Given the description of an element on the screen output the (x, y) to click on. 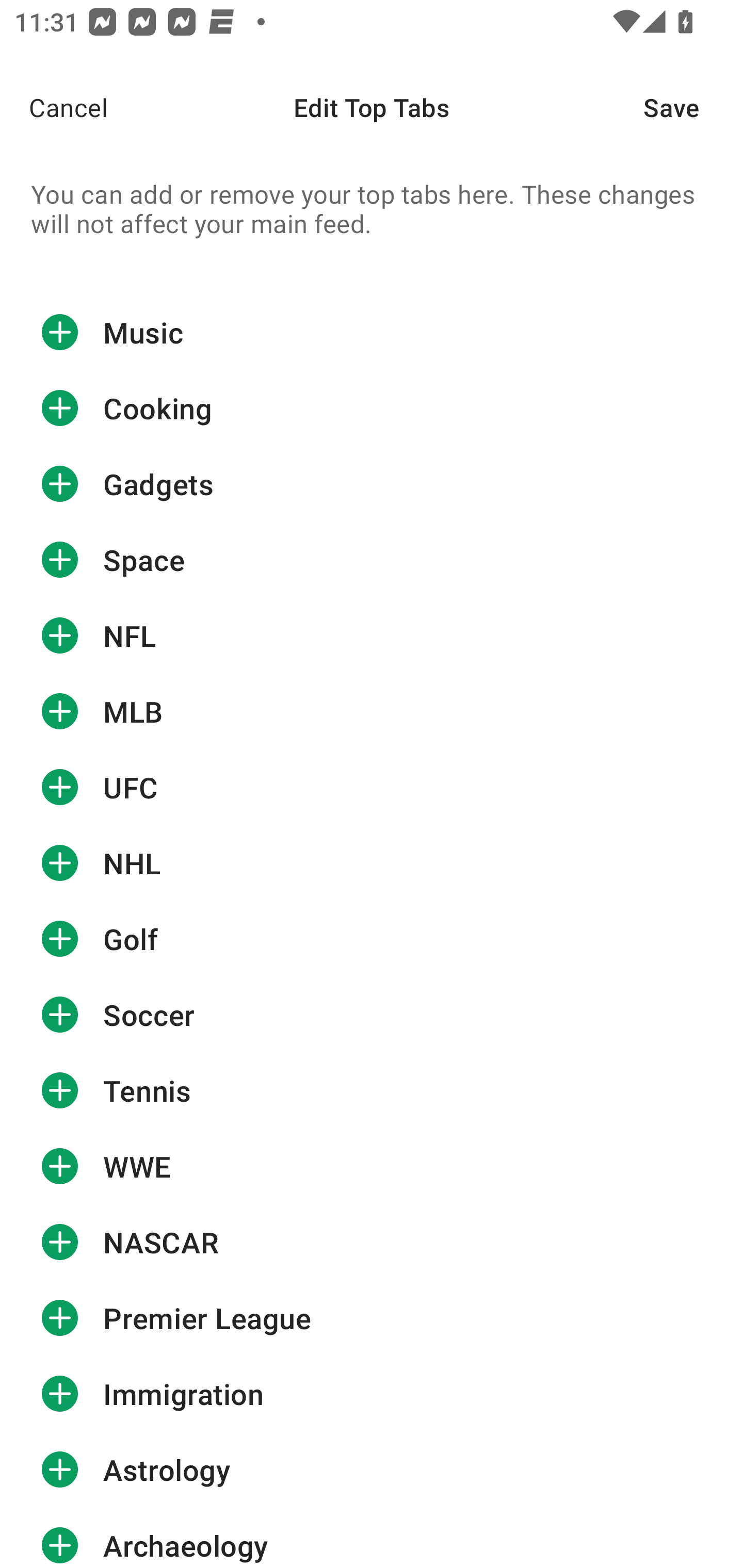
Cancel (53, 106)
Save (693, 106)
Music (371, 332)
Cooking (371, 408)
Gadgets (371, 484)
Space (371, 559)
NFL (371, 635)
MLB (371, 711)
UFC (371, 786)
NHL (371, 862)
Golf (371, 938)
Soccer (371, 1014)
Tennis (371, 1090)
WWE (371, 1166)
NASCAR (371, 1241)
Premier League (371, 1317)
Immigration (371, 1393)
Astrology (371, 1469)
Archaeology (371, 1538)
